Given the description of an element on the screen output the (x, y) to click on. 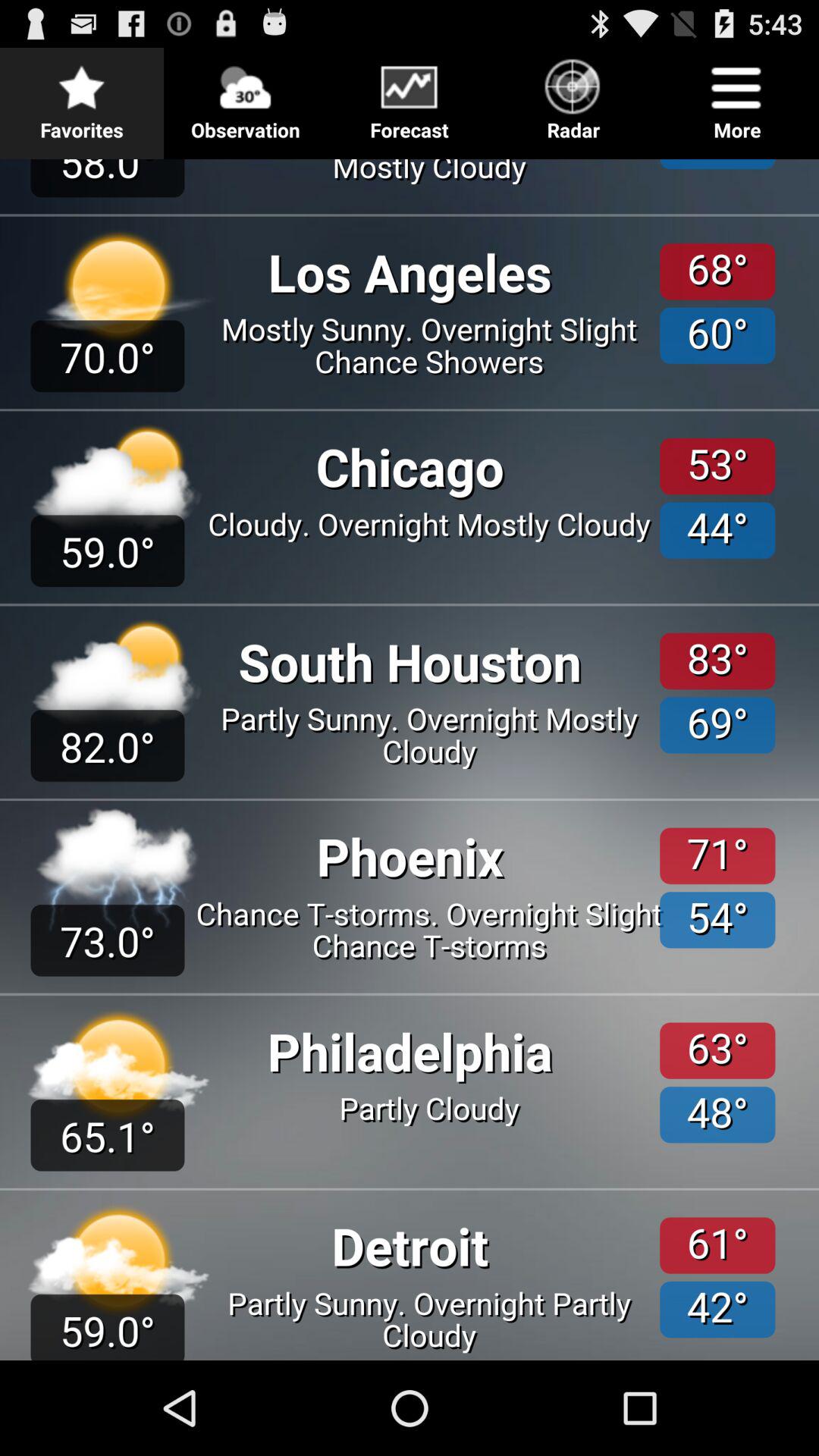
flip until the radar icon (573, 95)
